Given the description of an element on the screen output the (x, y) to click on. 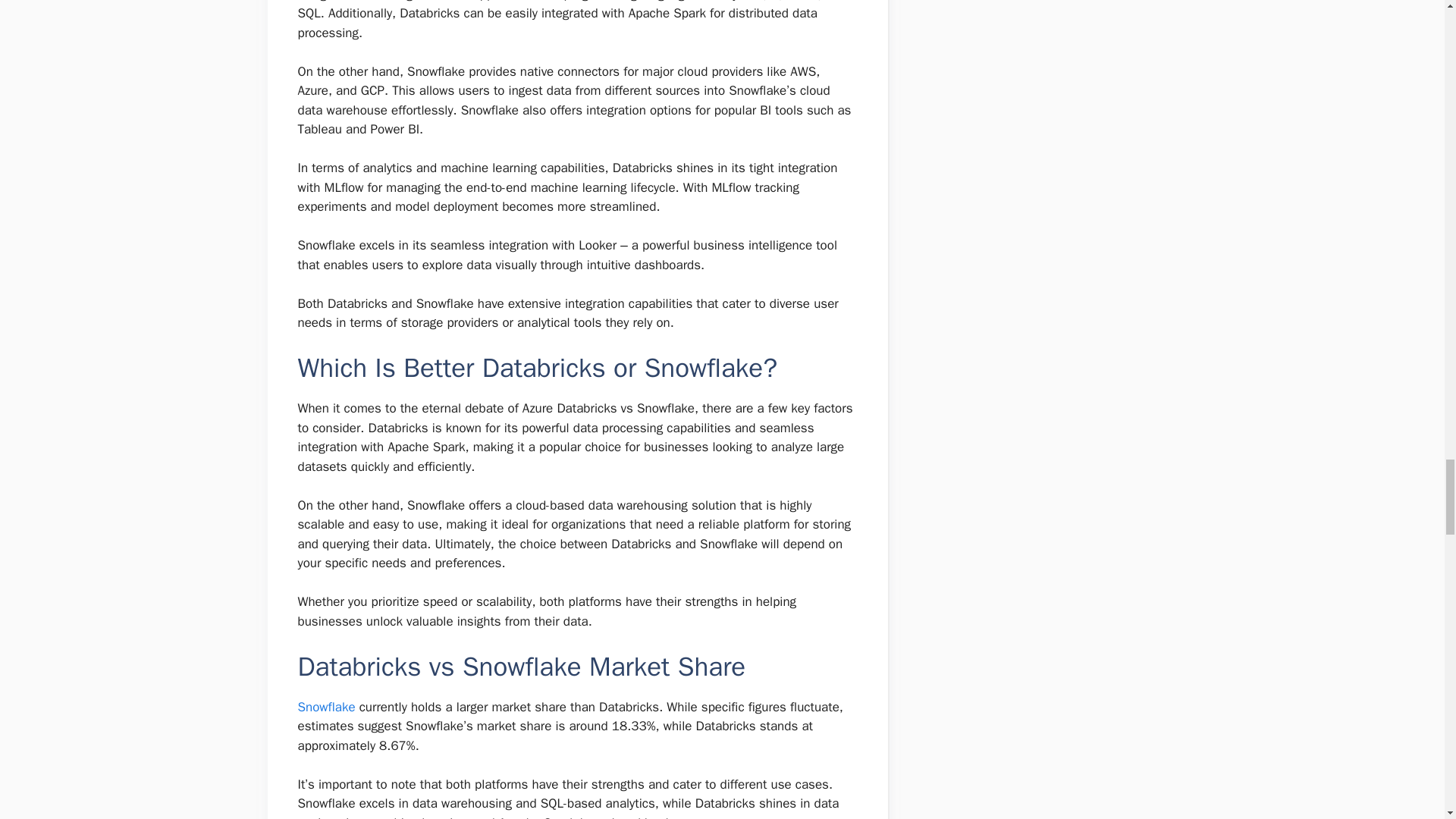
Snowflake (326, 706)
